Given the description of an element on the screen output the (x, y) to click on. 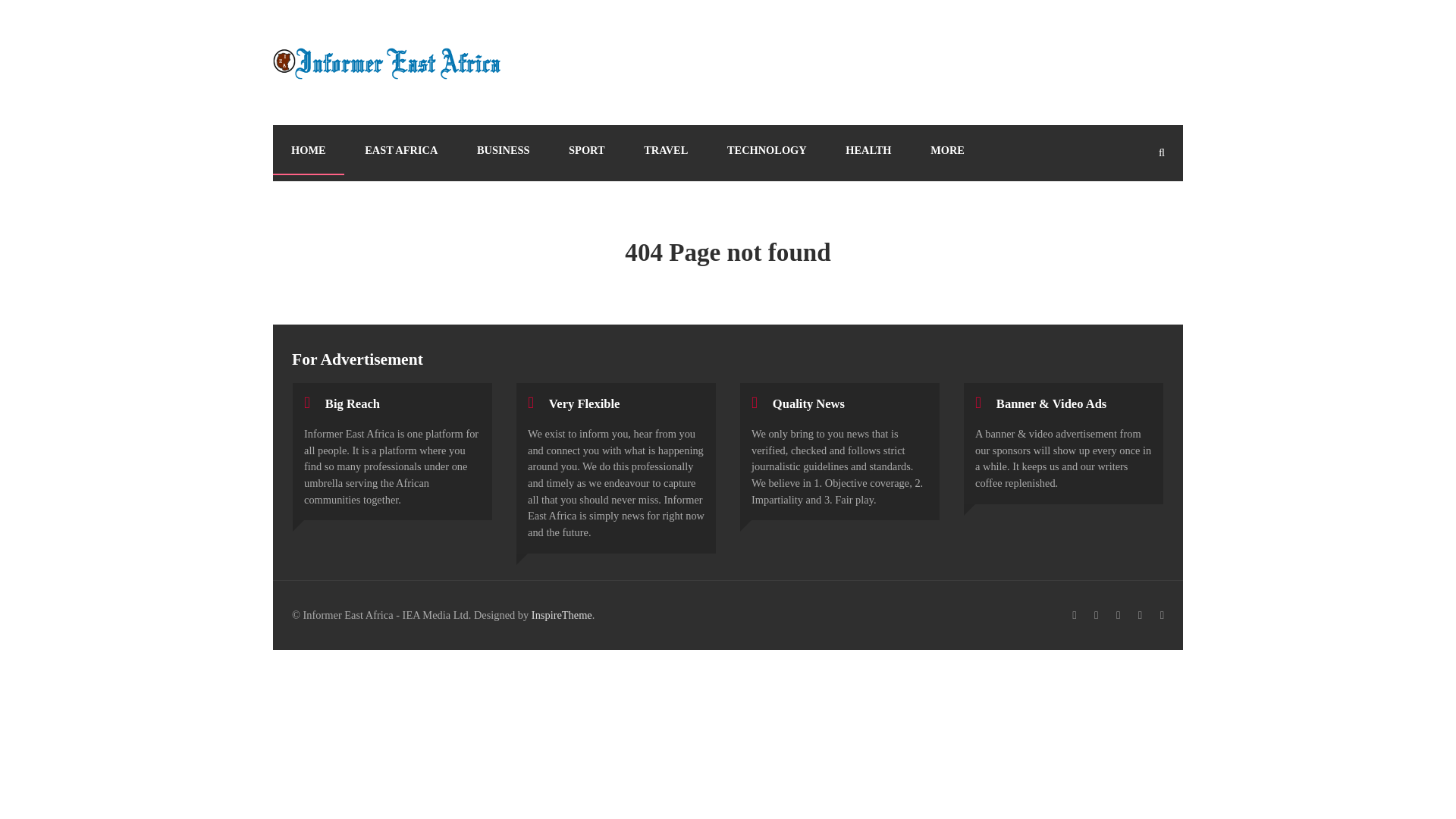
Twitter (1095, 615)
Linkedin (1140, 615)
TECHNOLOGY (767, 149)
Facebook (1073, 615)
InspireTheme (561, 614)
HEALTH (867, 149)
MORE (947, 149)
EAST AFRICA (400, 149)
SPORT (586, 149)
TRAVEL (666, 149)
YouTube (1162, 615)
HOME (308, 149)
BUSINESS (503, 149)
Informer East Africa News (386, 62)
